Given the description of an element on the screen output the (x, y) to click on. 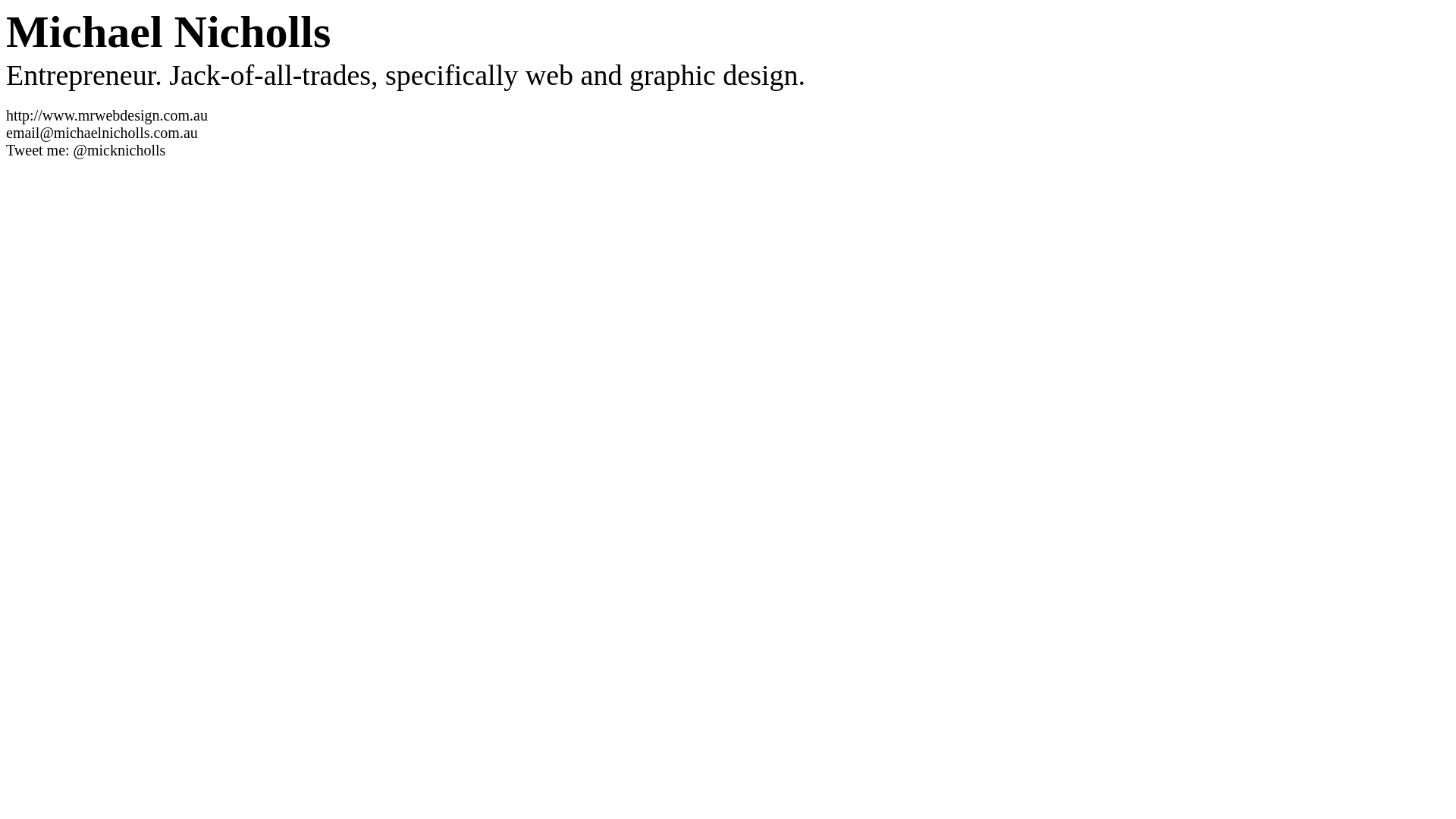
http://www.mrwebdesign.com.au Element type: text (106, 114)
@micknicholls Element type: text (119, 149)
